Given the description of an element on the screen output the (x, y) to click on. 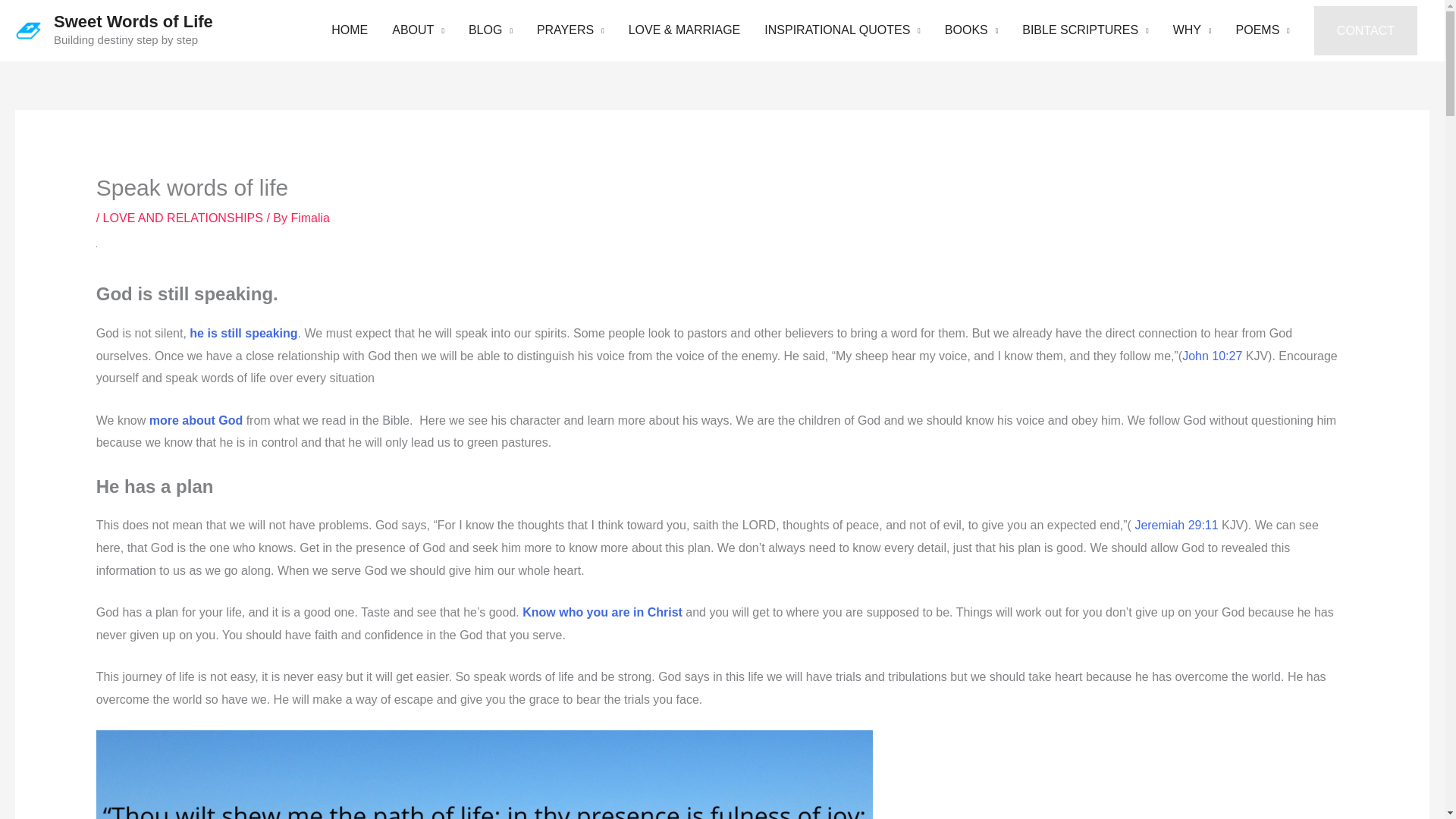
ABOUT (418, 30)
View all posts by Fimalia (309, 217)
PRAYERS (569, 30)
BOOKS (971, 30)
INSPIRATIONAL QUOTES (842, 30)
Psalm 16:11 Speak words of life (484, 774)
BIBLE SCRIPTURES (1085, 30)
HOME (349, 30)
Sweet Words of Life (132, 21)
BLOG (490, 30)
